Given the description of an element on the screen output the (x, y) to click on. 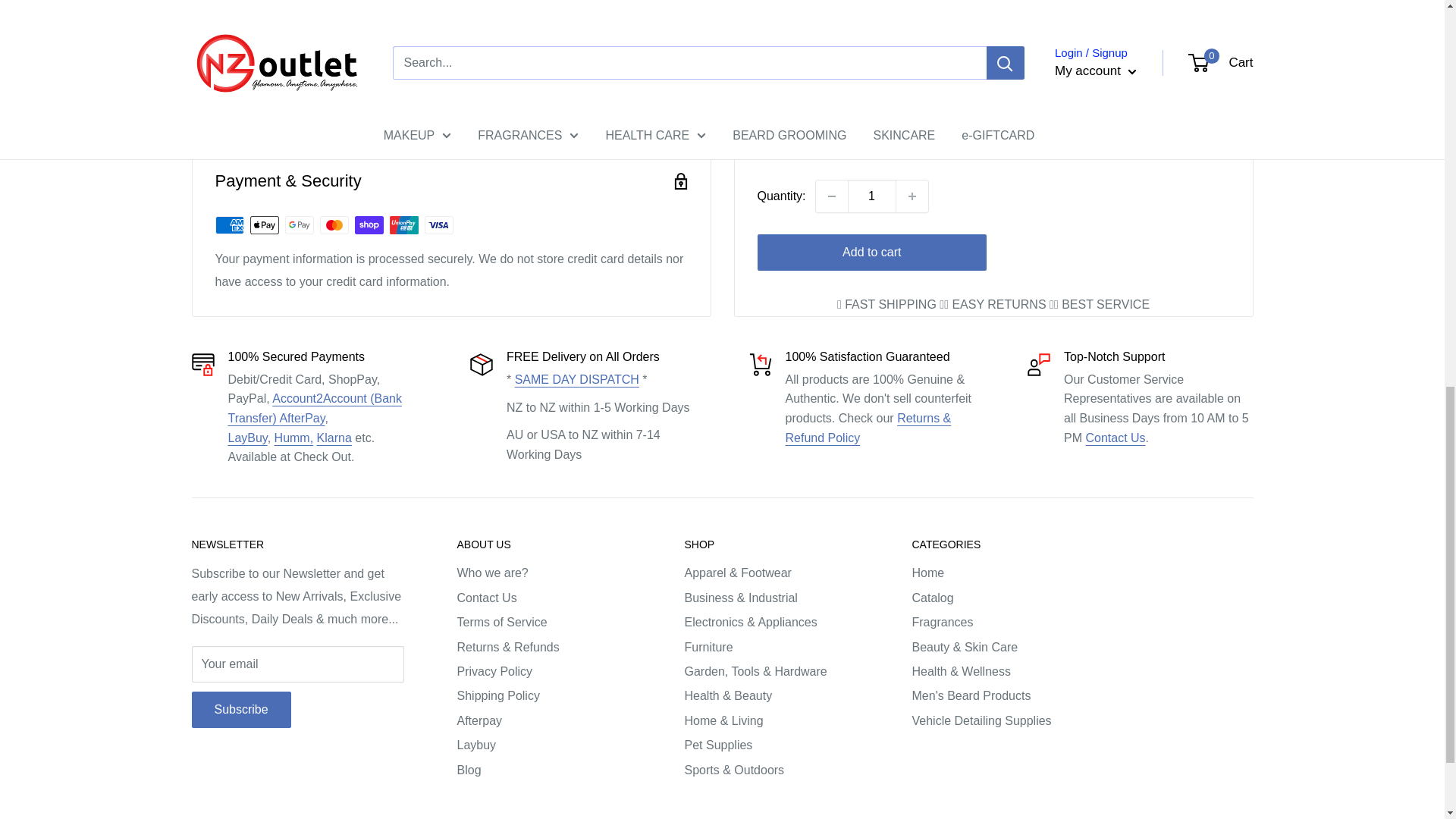
Contact Us (1114, 437)
Shipping Policy (577, 379)
Humm (294, 437)
Refund Policy (869, 427)
Account2Account (314, 408)
